Given the description of an element on the screen output the (x, y) to click on. 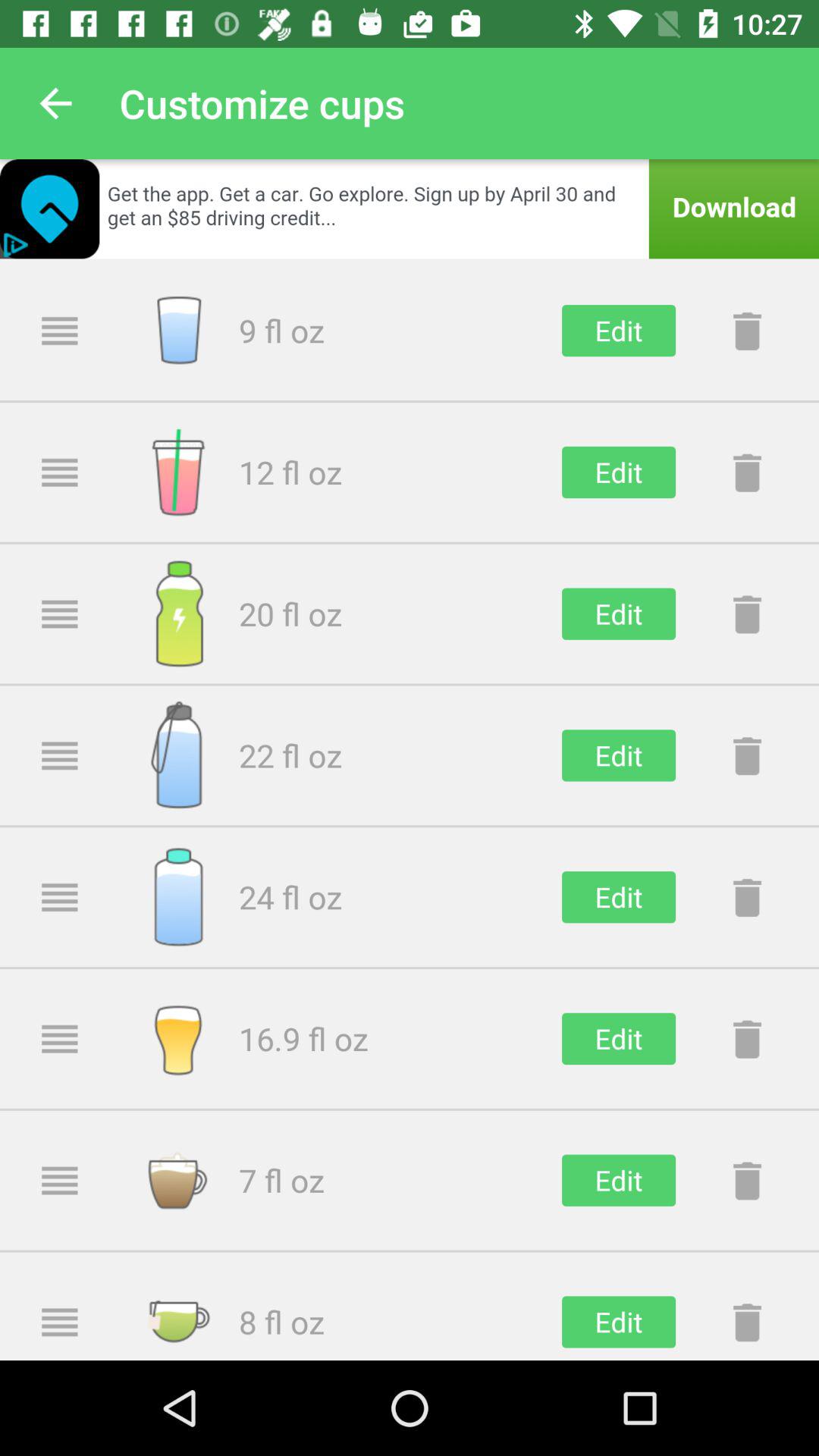
delete page (747, 755)
